Given the description of an element on the screen output the (x, y) to click on. 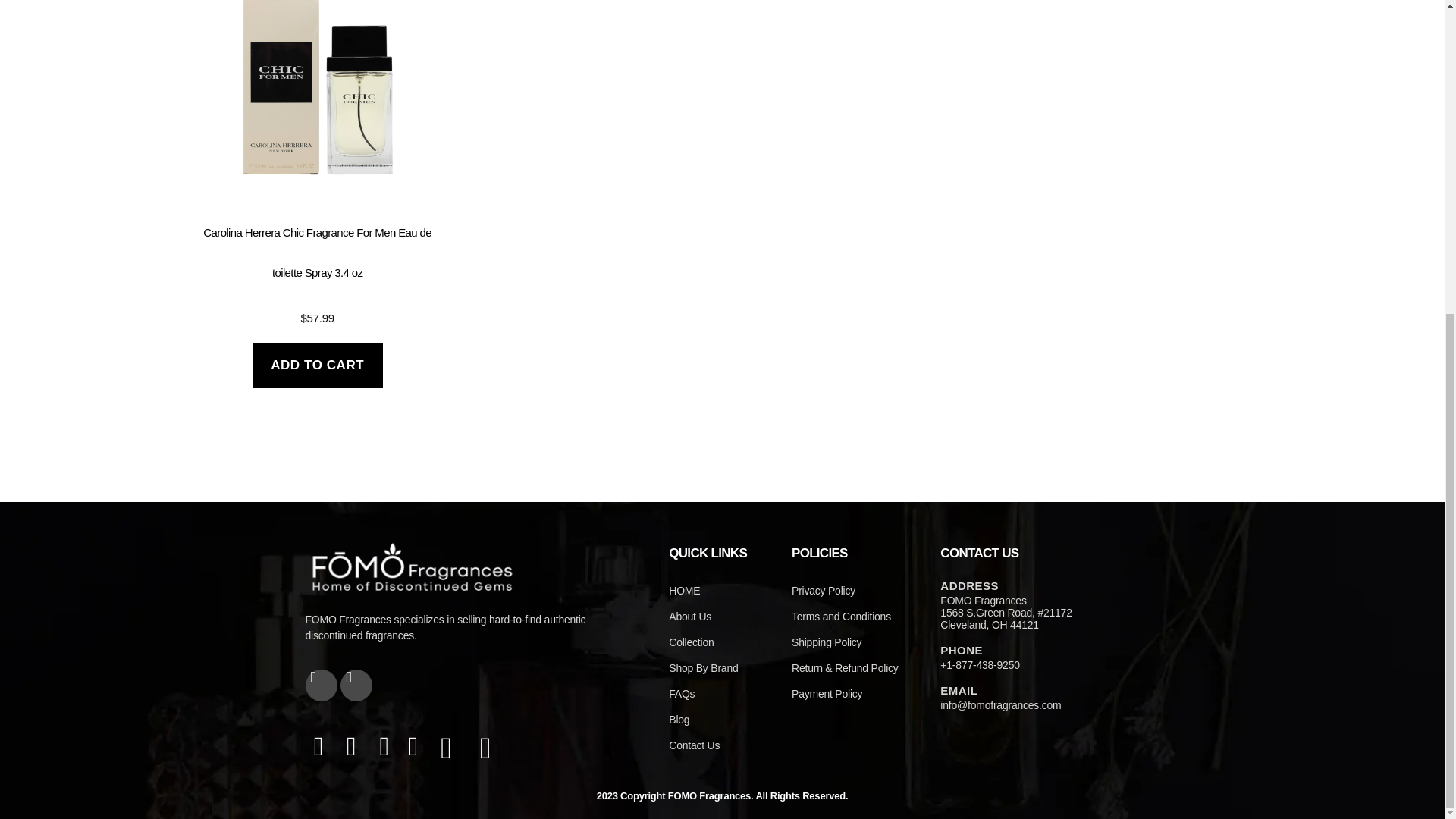
ADD TO CART (316, 365)
HOME (722, 590)
About Us (722, 616)
